Given the description of an element on the screen output the (x, y) to click on. 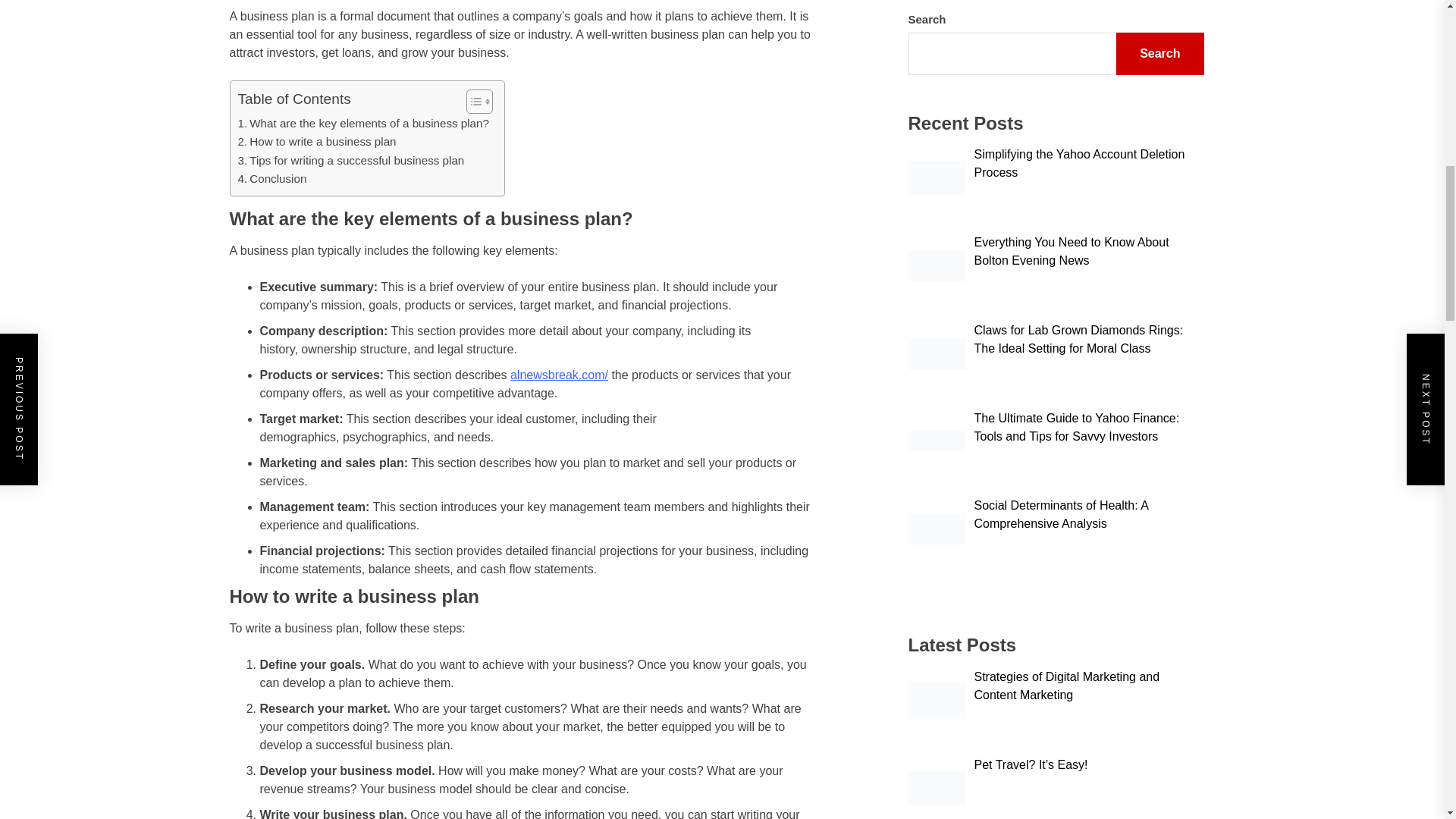
How to write a business plan (317, 141)
Tips for writing a successful business plan (351, 160)
What are the key elements of a business plan? (363, 123)
Conclusion (272, 178)
